Given the description of an element on the screen output the (x, y) to click on. 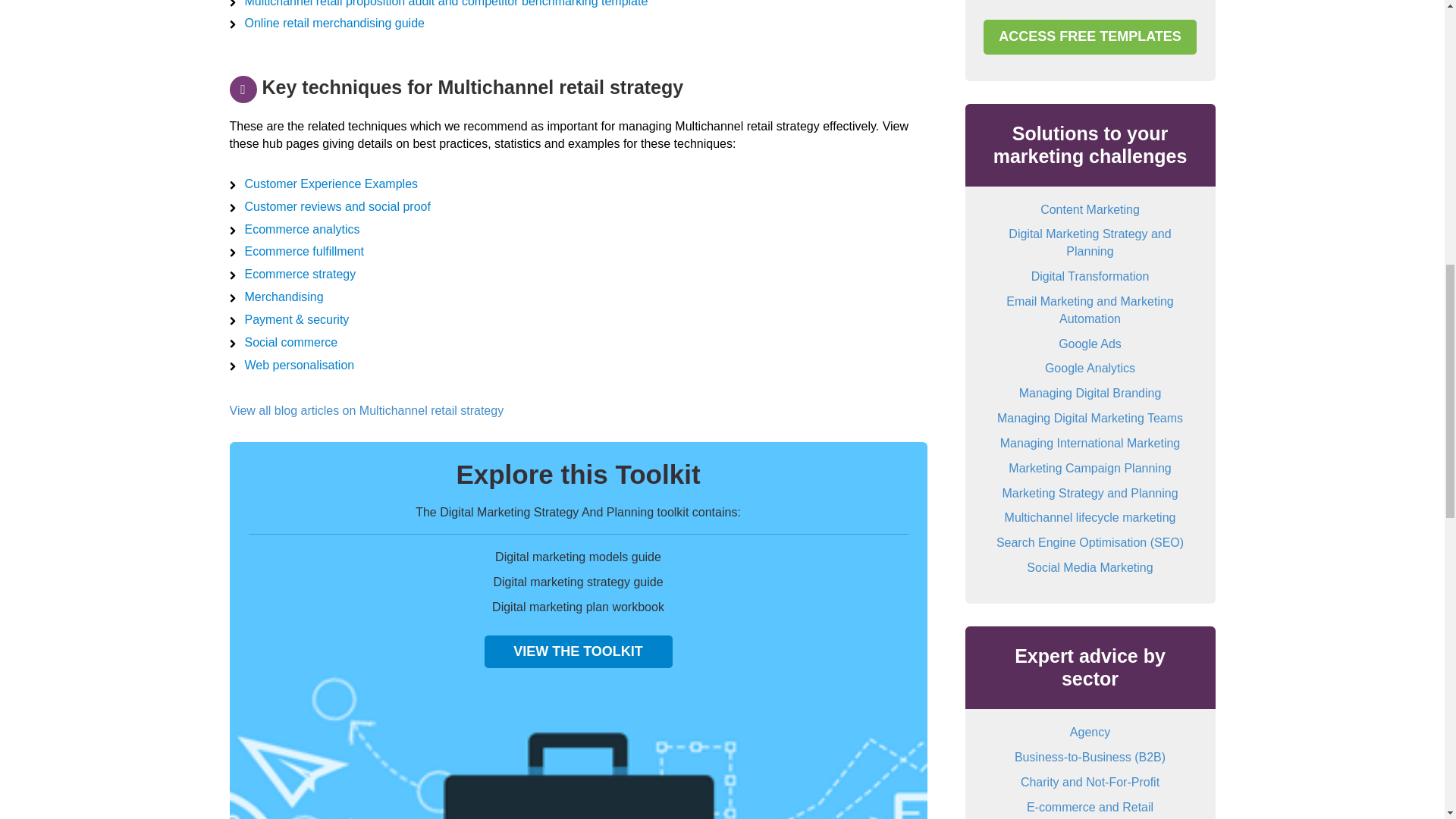
Managing Digital Branding (1090, 392)
Digital Transformation (1090, 276)
Email Marketing and Marketing Automation (1089, 309)
Marketing Campaign Planning (1089, 468)
Digital Marketing Strategy and Planning (1089, 242)
Managing International Marketing (1089, 442)
Google Analytics (1090, 367)
Content Marketing (1090, 209)
Google Ads (1089, 343)
Marketing Strategy and Planning (1089, 492)
